Given the description of an element on the screen output the (x, y) to click on. 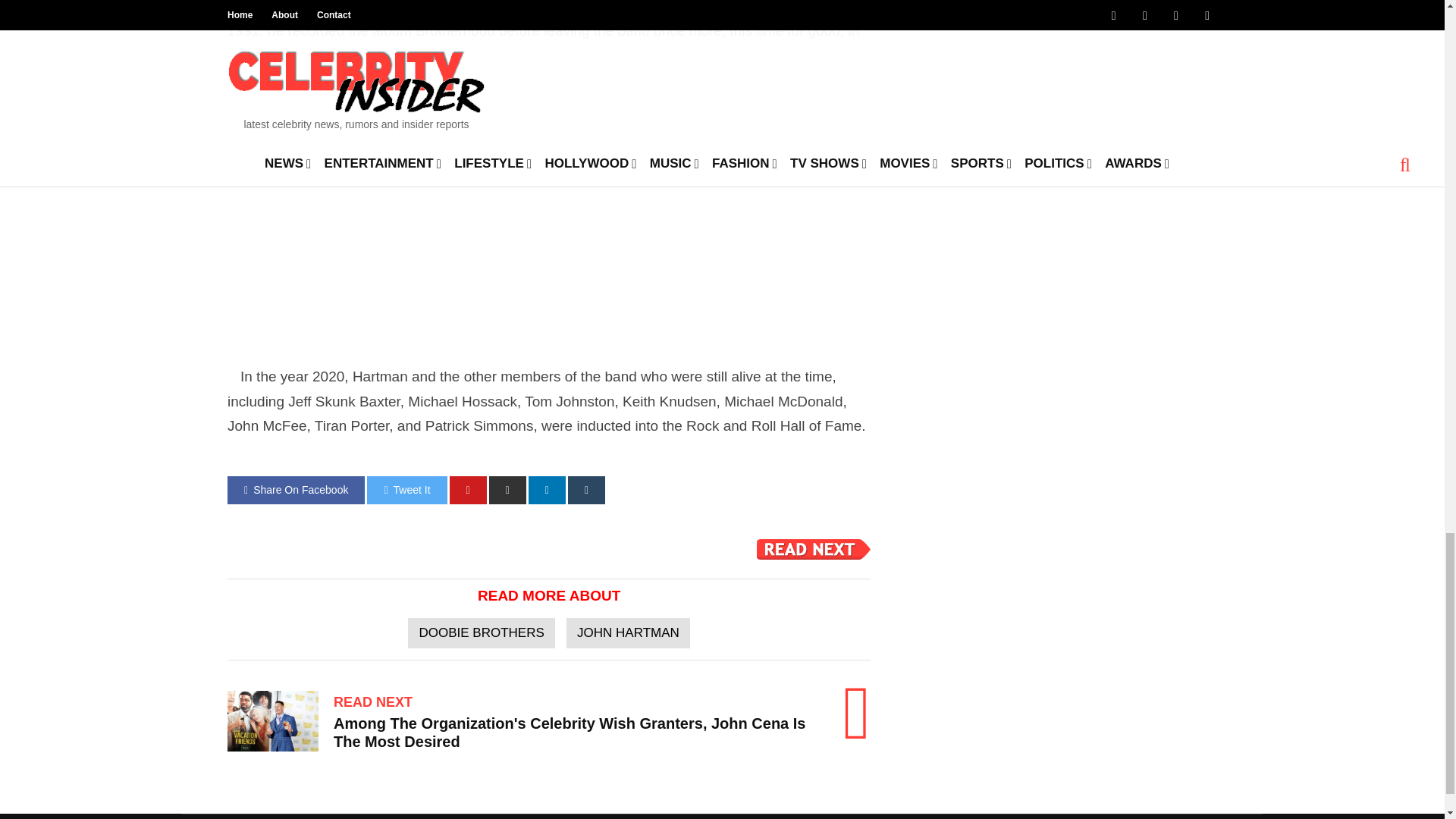
Share On Tumblr (586, 489)
Share On Twitter (406, 489)
Share On Linkedin (547, 489)
Share On Reddit (507, 489)
Share On Facebook (296, 489)
Share On Pinterest (467, 489)
